Given the description of an element on the screen output the (x, y) to click on. 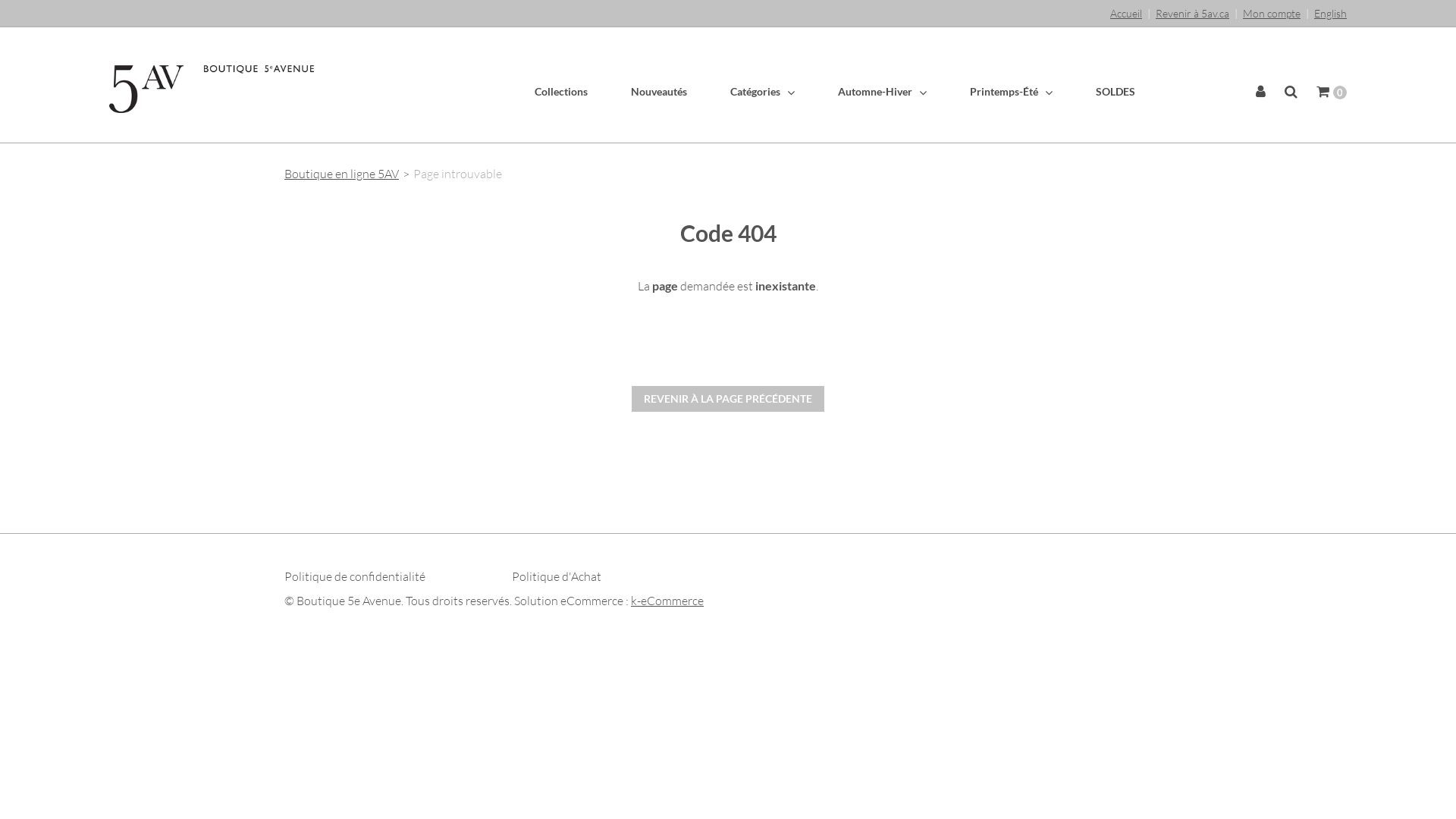
Automne-Hiver Element type: text (859, 91)
Boutique 5e Avenue Element type: hover (211, 88)
Politique d'Achat Element type: text (556, 575)
Boutique en ligne 5AV Element type: text (341, 173)
0 Element type: text (1327, 91)
Collections Element type: text (560, 90)
English Element type: text (1330, 12)
SOLDES Element type: text (1093, 90)
Accueil Element type: text (1126, 12)
Mon compte Element type: text (1271, 12)
k-eCommerce Element type: text (666, 600)
